Given the description of an element on the screen output the (x, y) to click on. 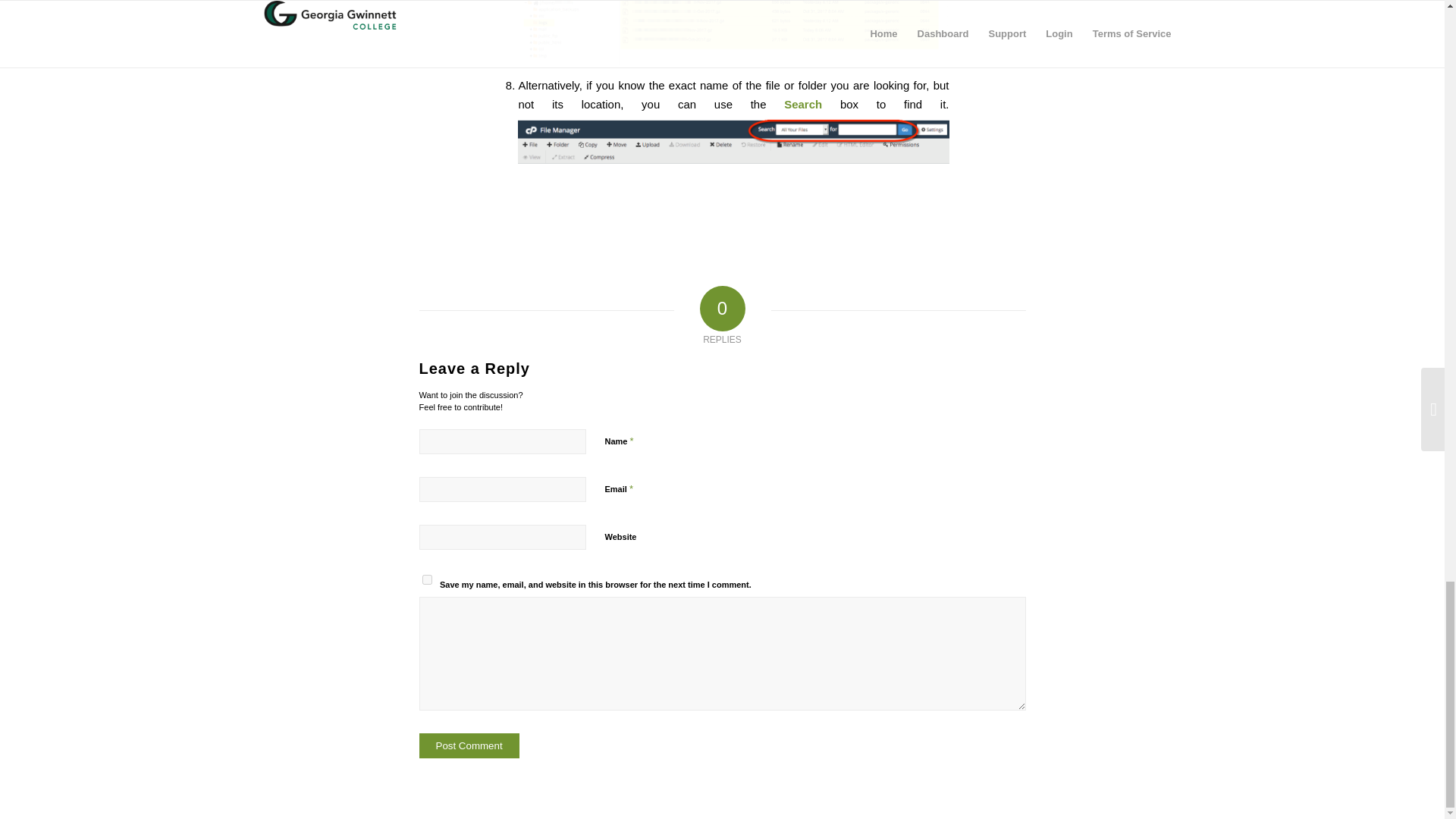
Post Comment (468, 745)
yes (426, 579)
Post Comment (468, 745)
